Given the description of an element on the screen output the (x, y) to click on. 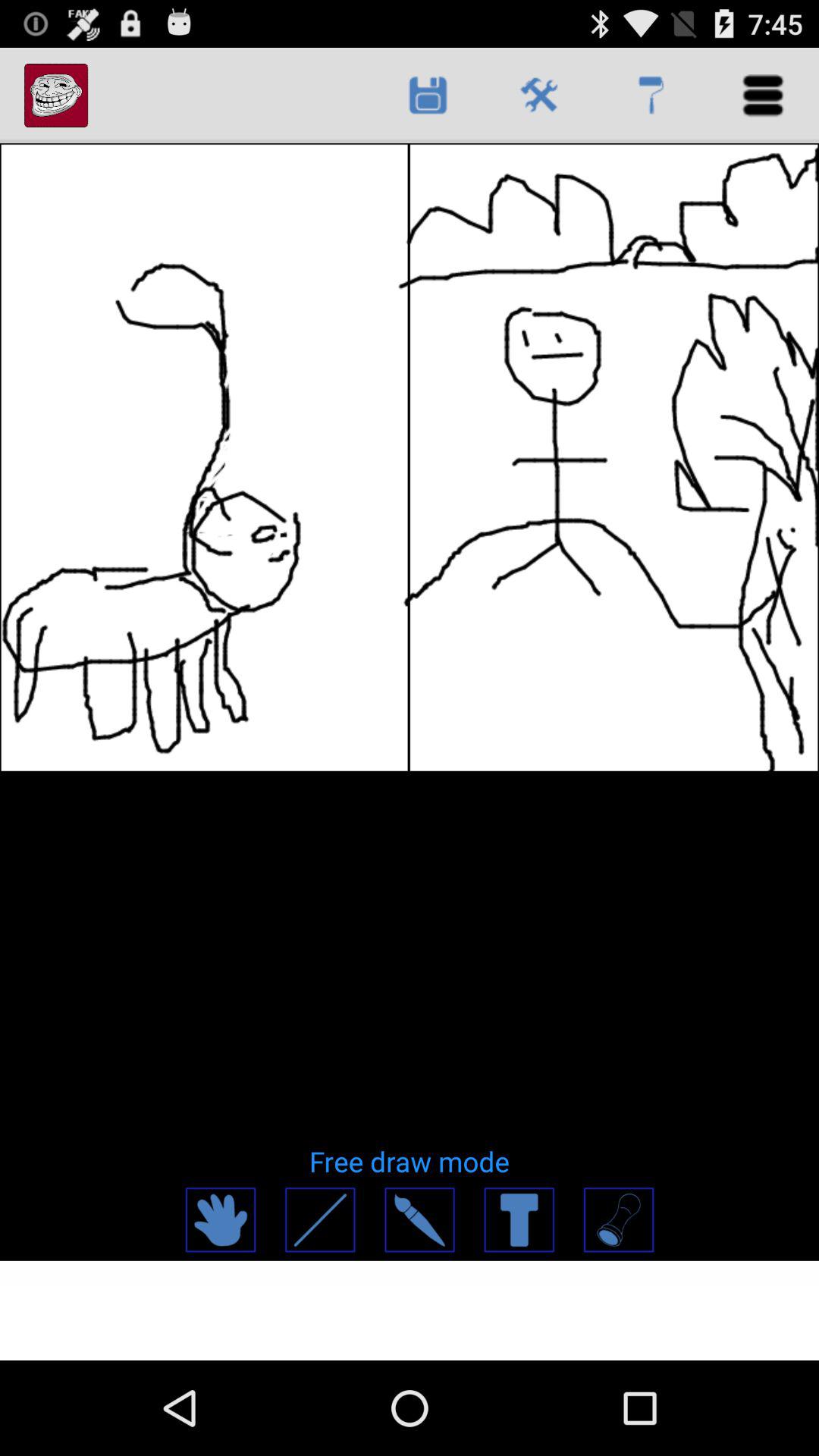
choose drawing mode (618, 1219)
